Given the description of an element on the screen output the (x, y) to click on. 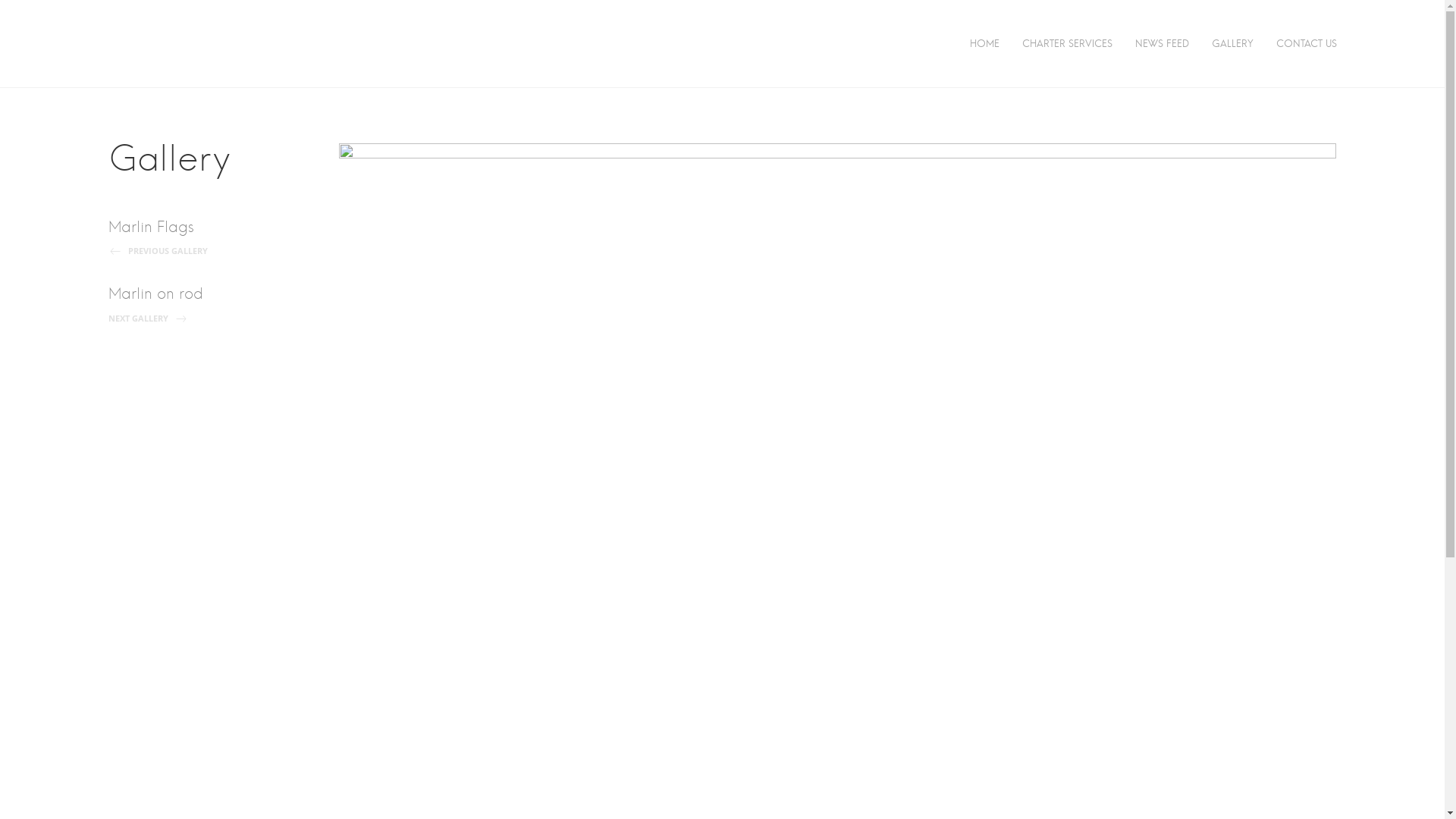
CONTACT US Element type: text (1305, 43)
NEWS FEED Element type: text (1161, 43)
Hammerhead Fishing Charters Element type: text (352, 53)
HOME Element type: text (983, 43)
CHARTER SERVICES Element type: text (1067, 43)
GALLERY Element type: text (1232, 43)
Marlin Flags
PREVIOUS GALLERY Element type: text (200, 236)
Marlin on rod
NEXT GALLERY Element type: text (200, 302)
